Given the description of an element on the screen output the (x, y) to click on. 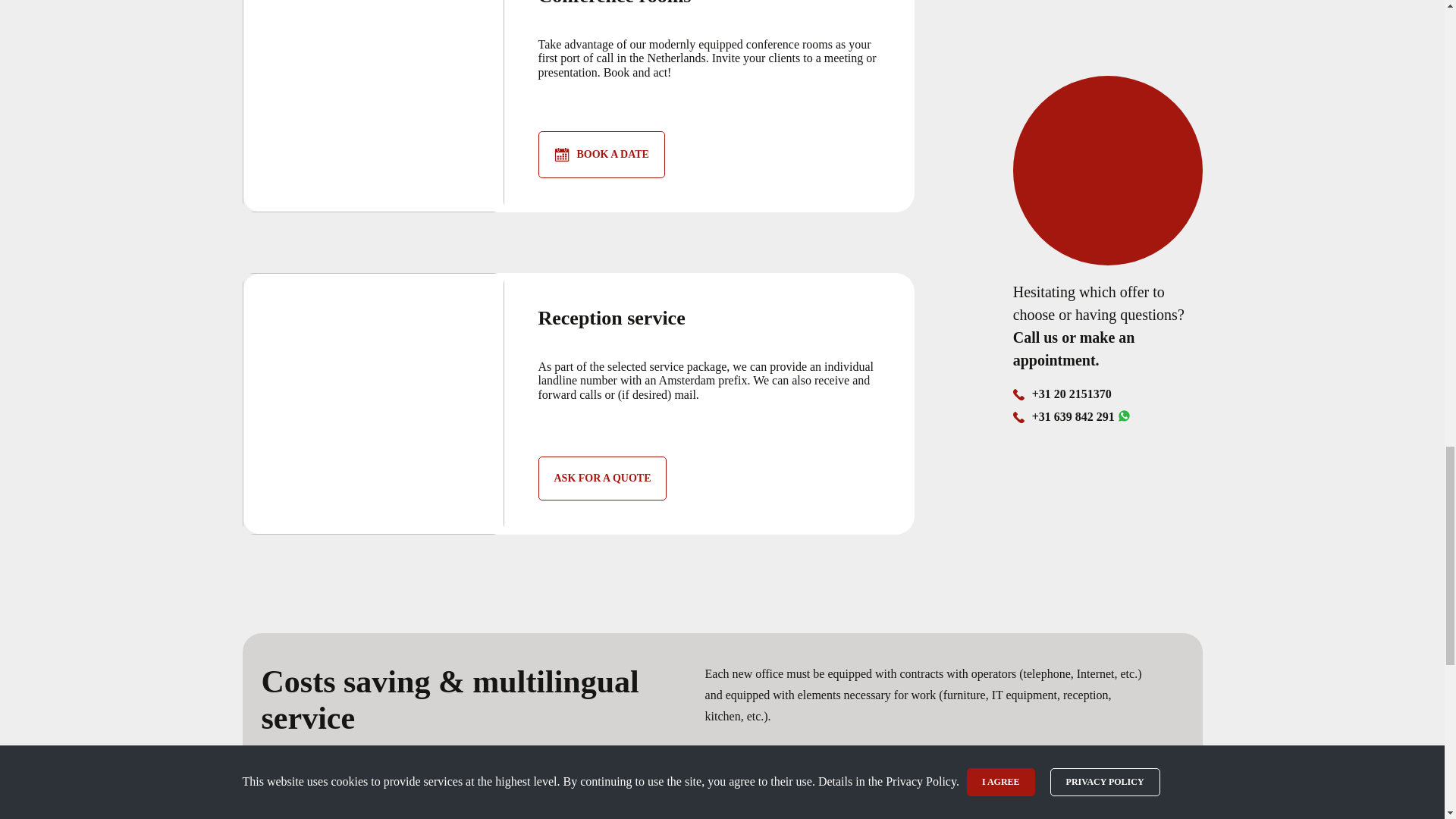
BOOK A DATE (601, 154)
ASK FOR A QUOTE (602, 478)
MAKE AN APPOINTMENT (341, 810)
